Given the description of an element on the screen output the (x, y) to click on. 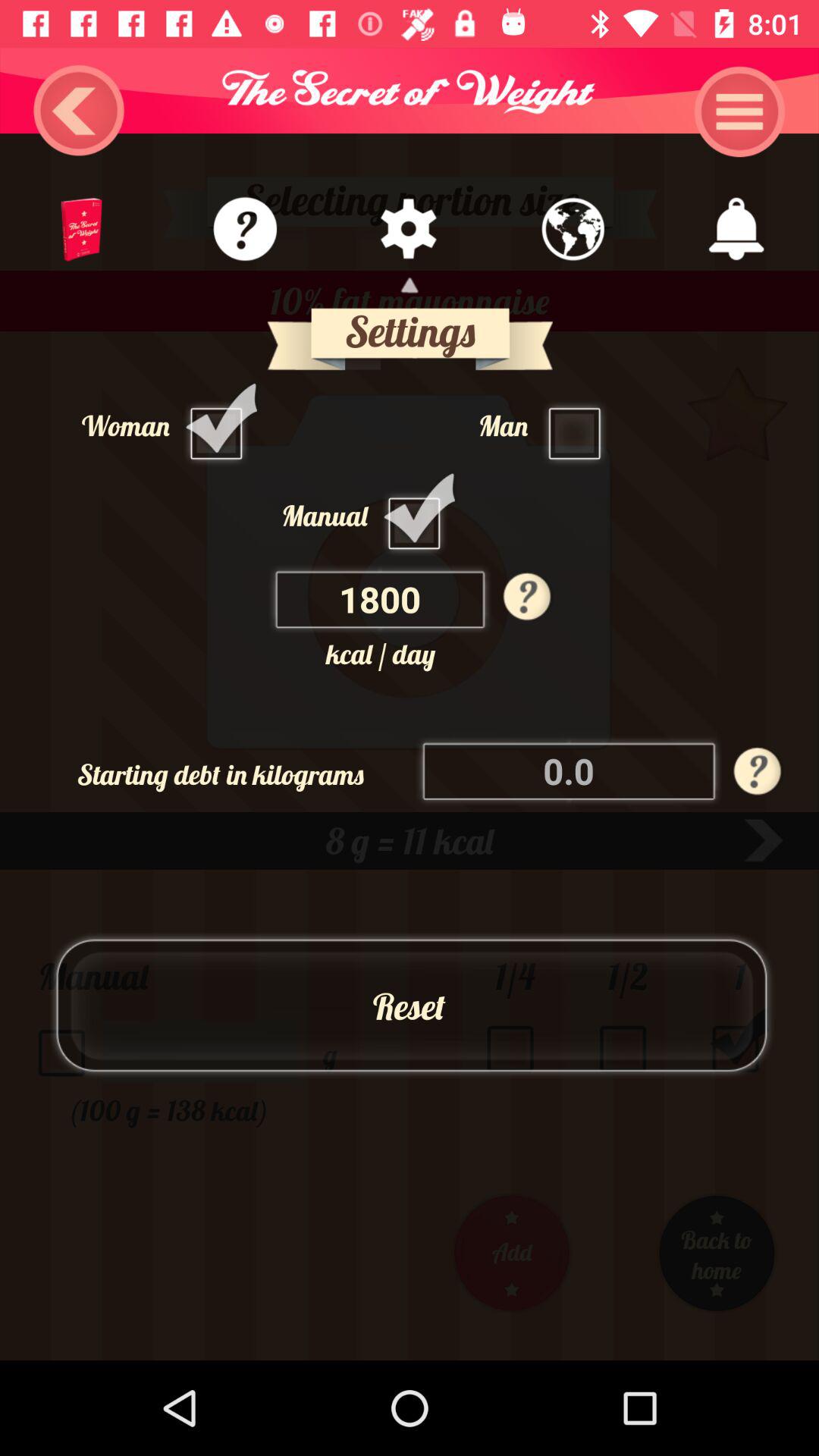
select man (578, 425)
